Given the description of an element on the screen output the (x, y) to click on. 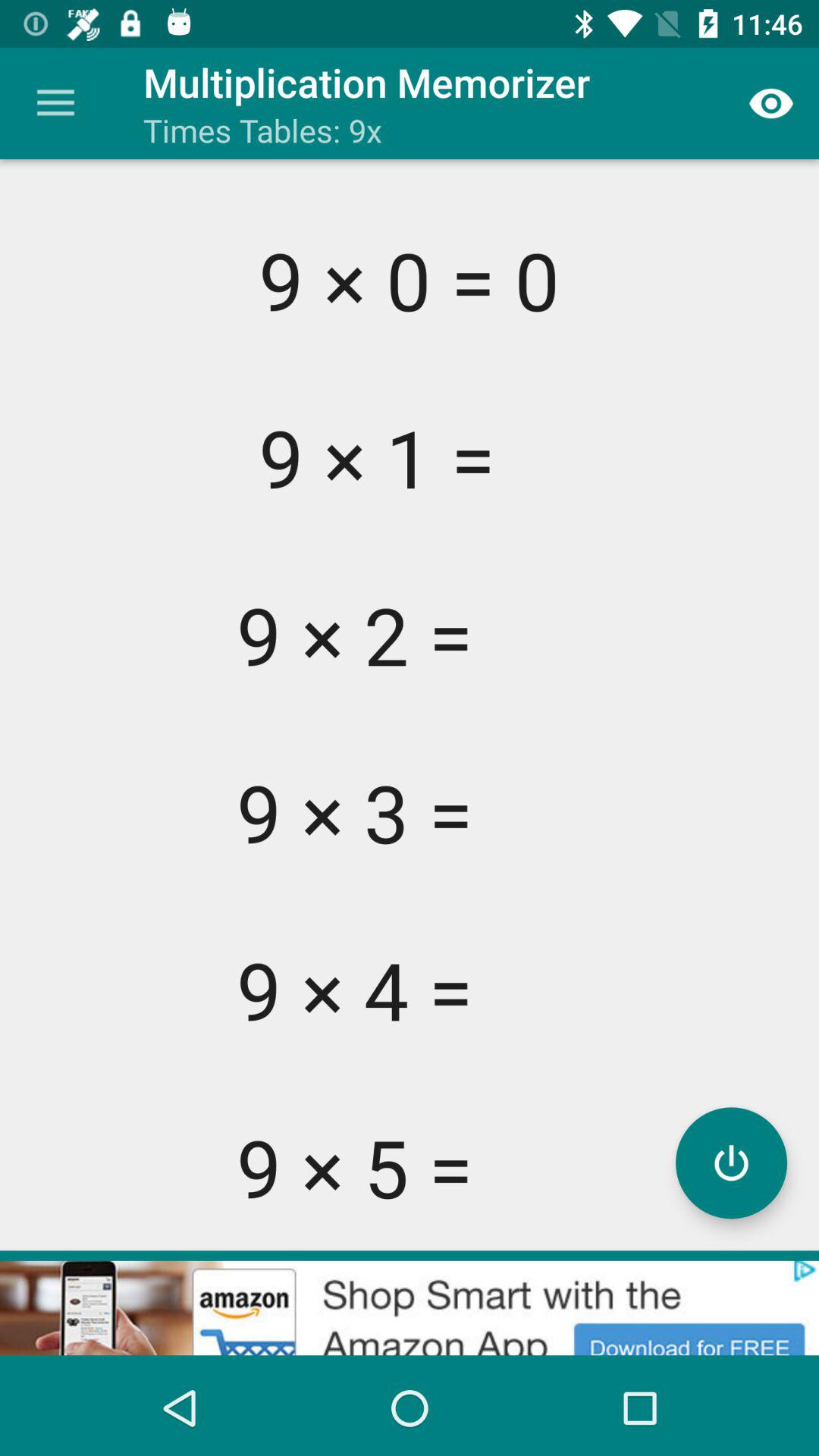
turn off button (731, 1162)
